Given the description of an element on the screen output the (x, y) to click on. 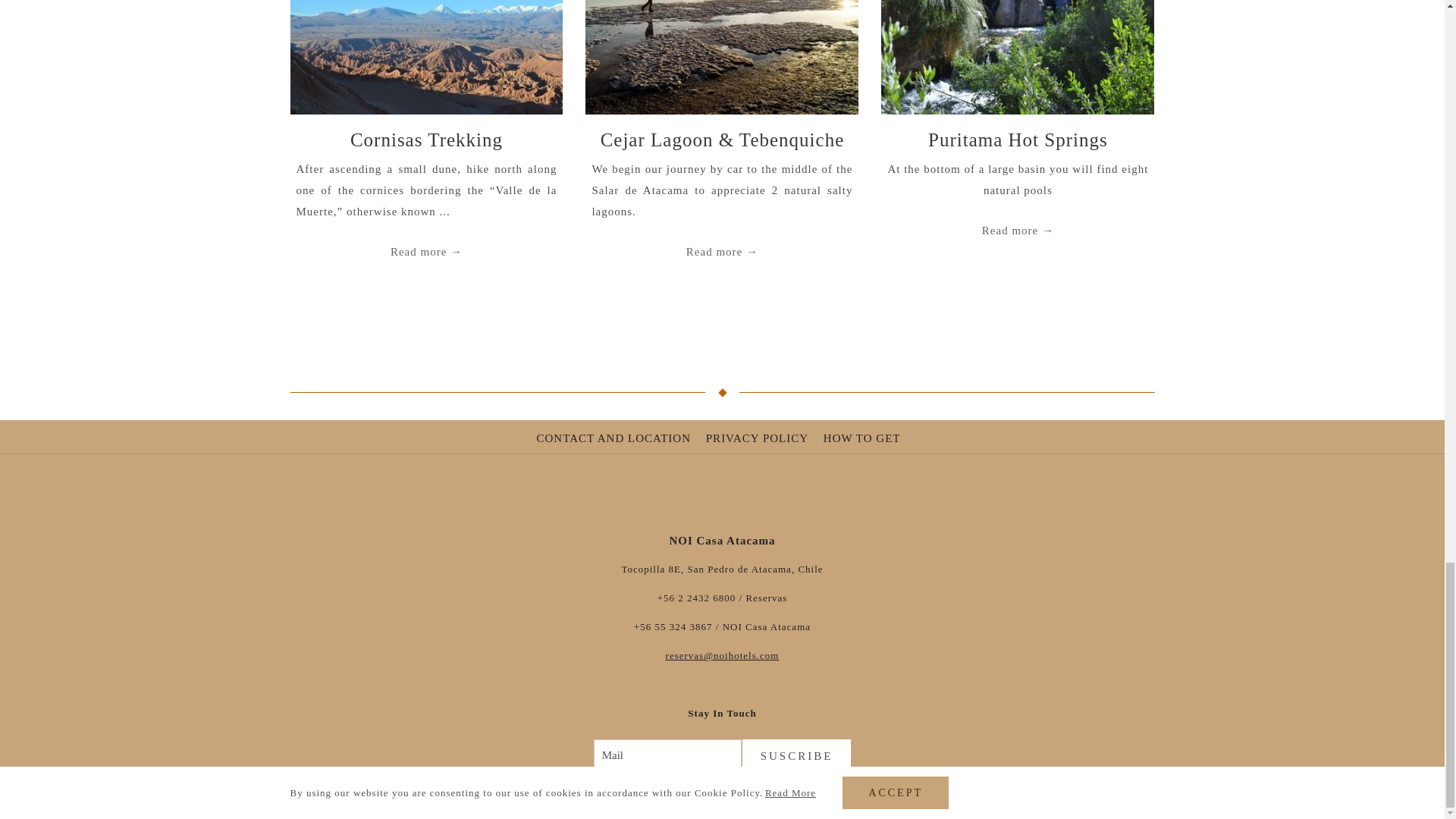
Cornisas Trekking (426, 139)
Puritama Hot Springs (1018, 139)
PRIVACY POLICY (759, 438)
Read more (721, 251)
Read more (426, 251)
HOW TO GET (864, 438)
CONTACT AND LOCATION (616, 438)
Read more (1017, 230)
